Given the description of an element on the screen output the (x, y) to click on. 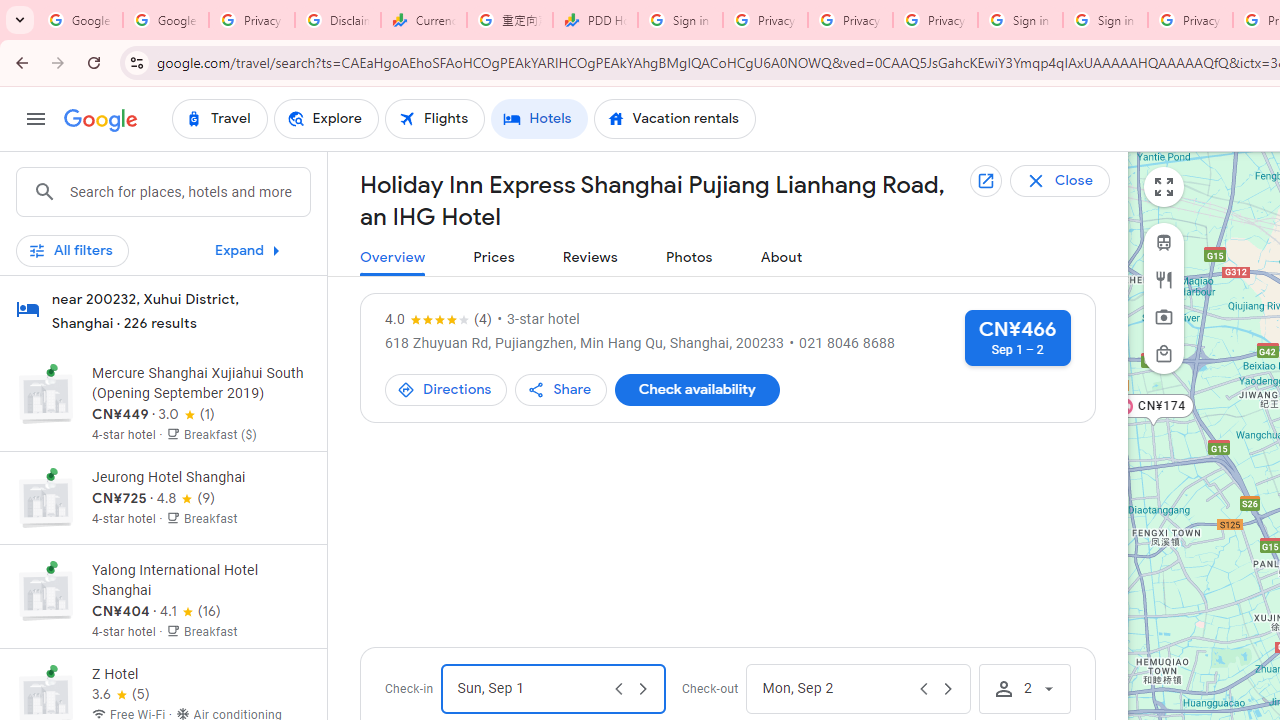
Open in new tab (985, 180)
Transit (1163, 242)
View prices for Yalong International Hotel Shanghai (200, 671)
Privacy Checkup (935, 20)
Travel (219, 118)
Areas for dining (1163, 279)
Reviews (589, 258)
